Given the description of an element on the screen output the (x, y) to click on. 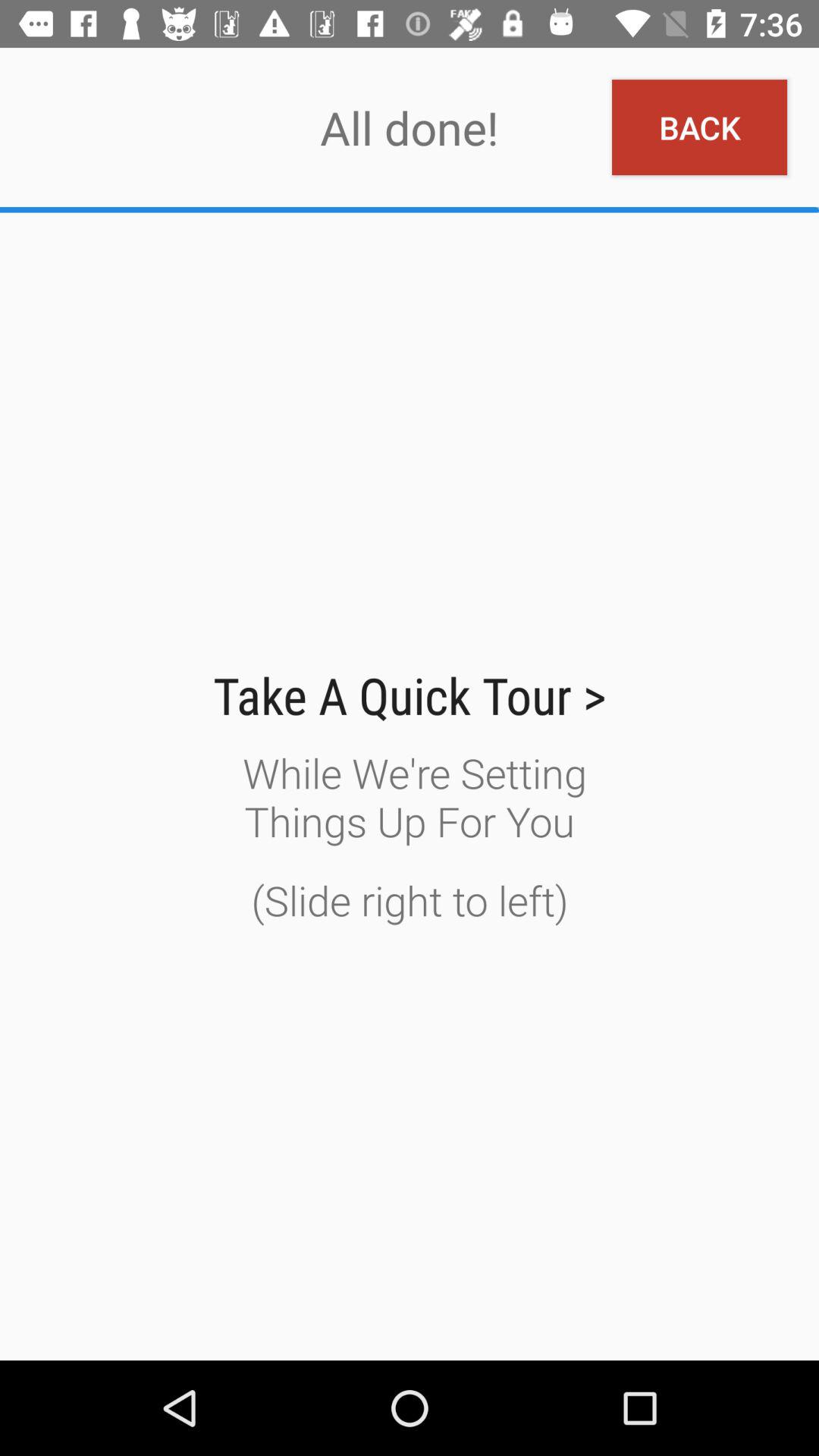
turn off back at the top right corner (699, 127)
